Given the description of an element on the screen output the (x, y) to click on. 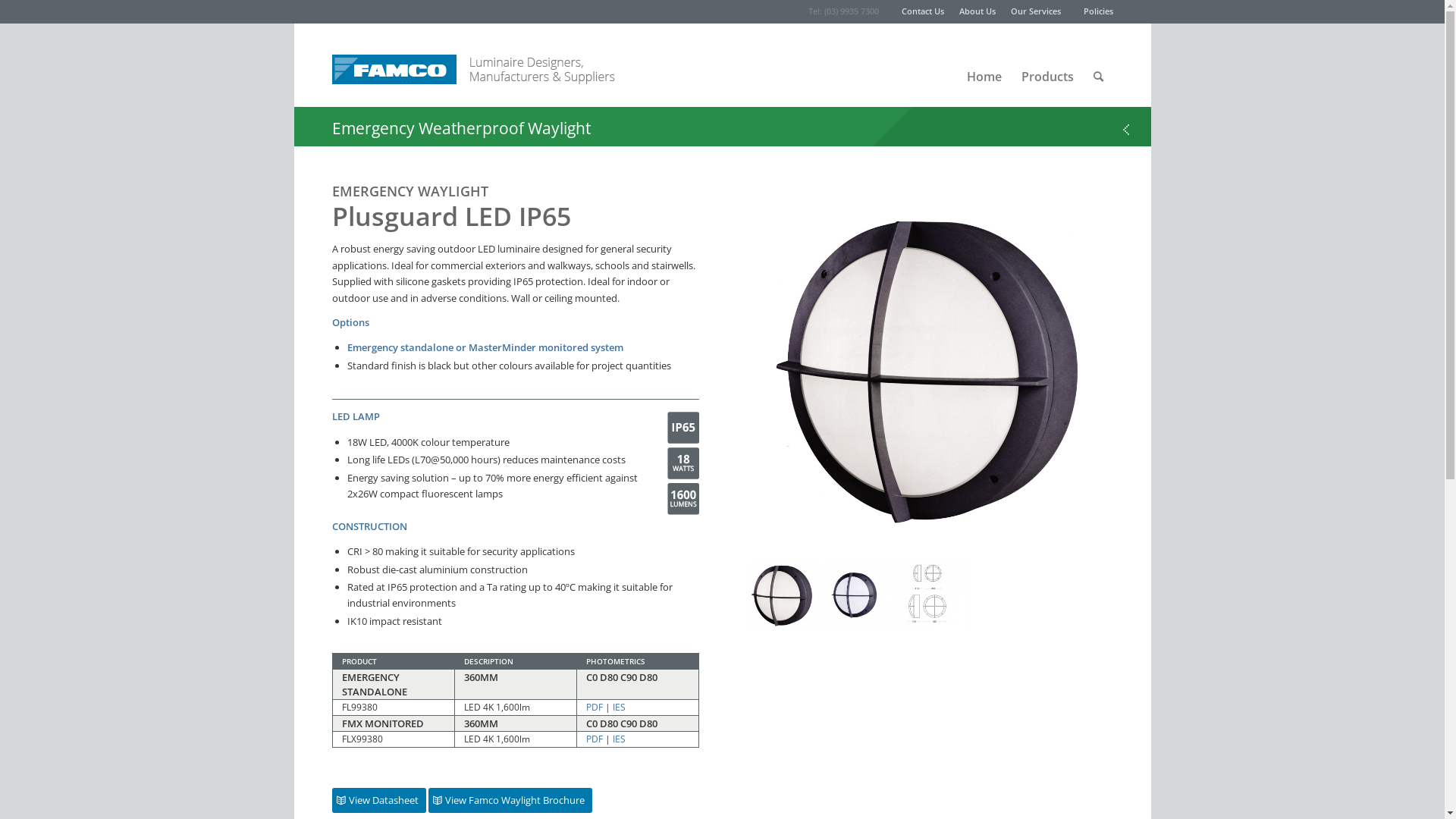
IES Element type: text (618, 738)
MasterMinder Element type: text (503, 347)
Contact Us Element type: text (921, 10)
Products Element type: text (1047, 64)
Policies Element type: text (1097, 10)
IES Element type: text (618, 706)
View Datasheet Element type: text (379, 799)
Plusguard 360 IP65 Element type: hover (928, 367)
chapter-headings-emergency Element type: hover (722, 126)
Home Element type: text (984, 64)
Plusguard 265 IP65 Element type: hover (855, 590)
PDF Element type: text (594, 738)
About Us Element type: text (976, 10)
Dimensions Element type: hover (929, 590)
View Famco Waylight Brochure Element type: text (509, 799)
Plusguard 360 IP65 Element type: hover (782, 590)
PDF Element type: text (594, 706)
Famco-Logo Element type: hover (394, 60)
Our Services Element type: text (1035, 10)
